Given the description of an element on the screen output the (x, y) to click on. 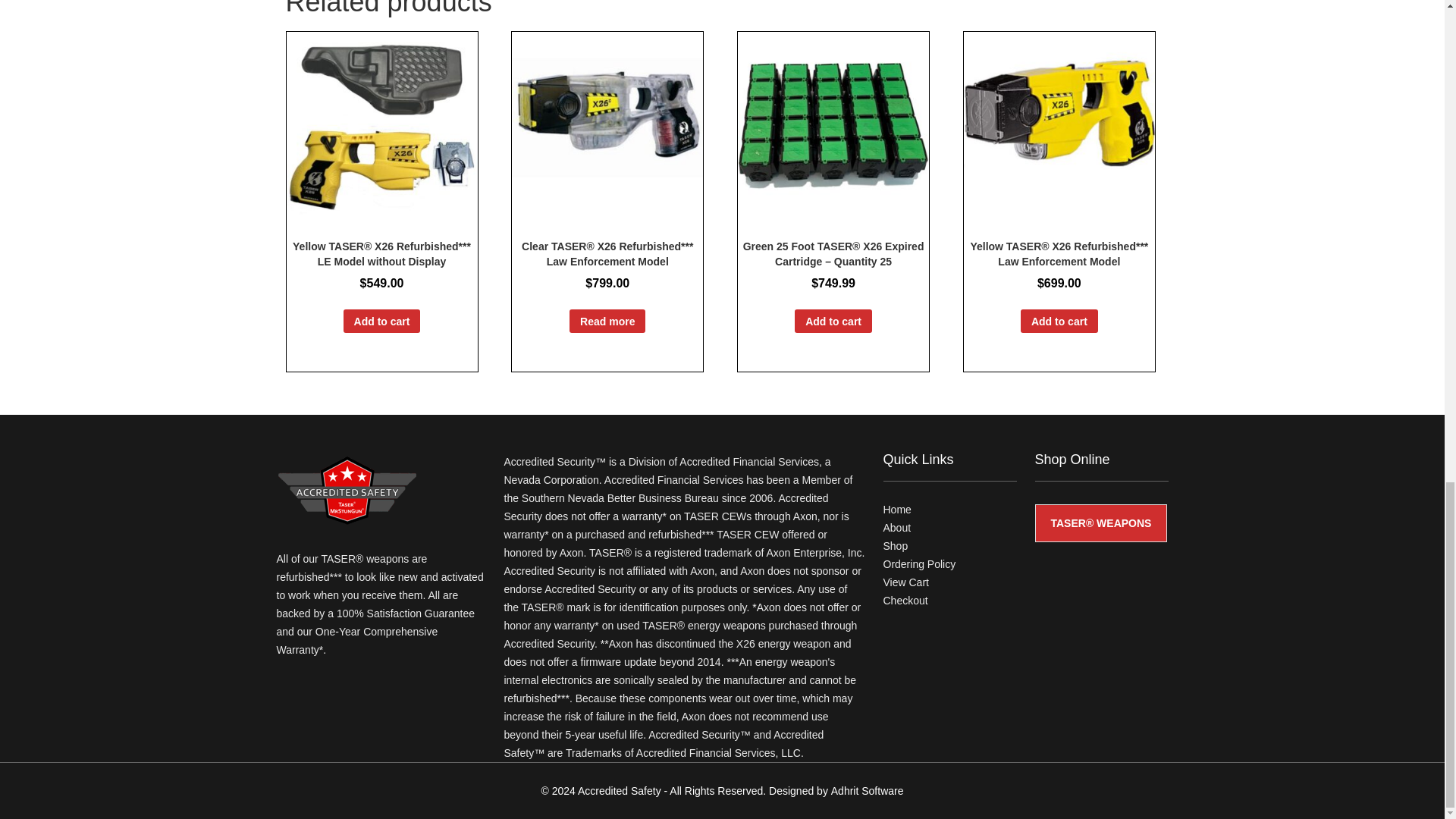
Add to cart (833, 320)
About (896, 527)
Home (896, 509)
Add to cart (1058, 320)
Add to cart (381, 320)
Read more (607, 320)
